Given the description of an element on the screen output the (x, y) to click on. 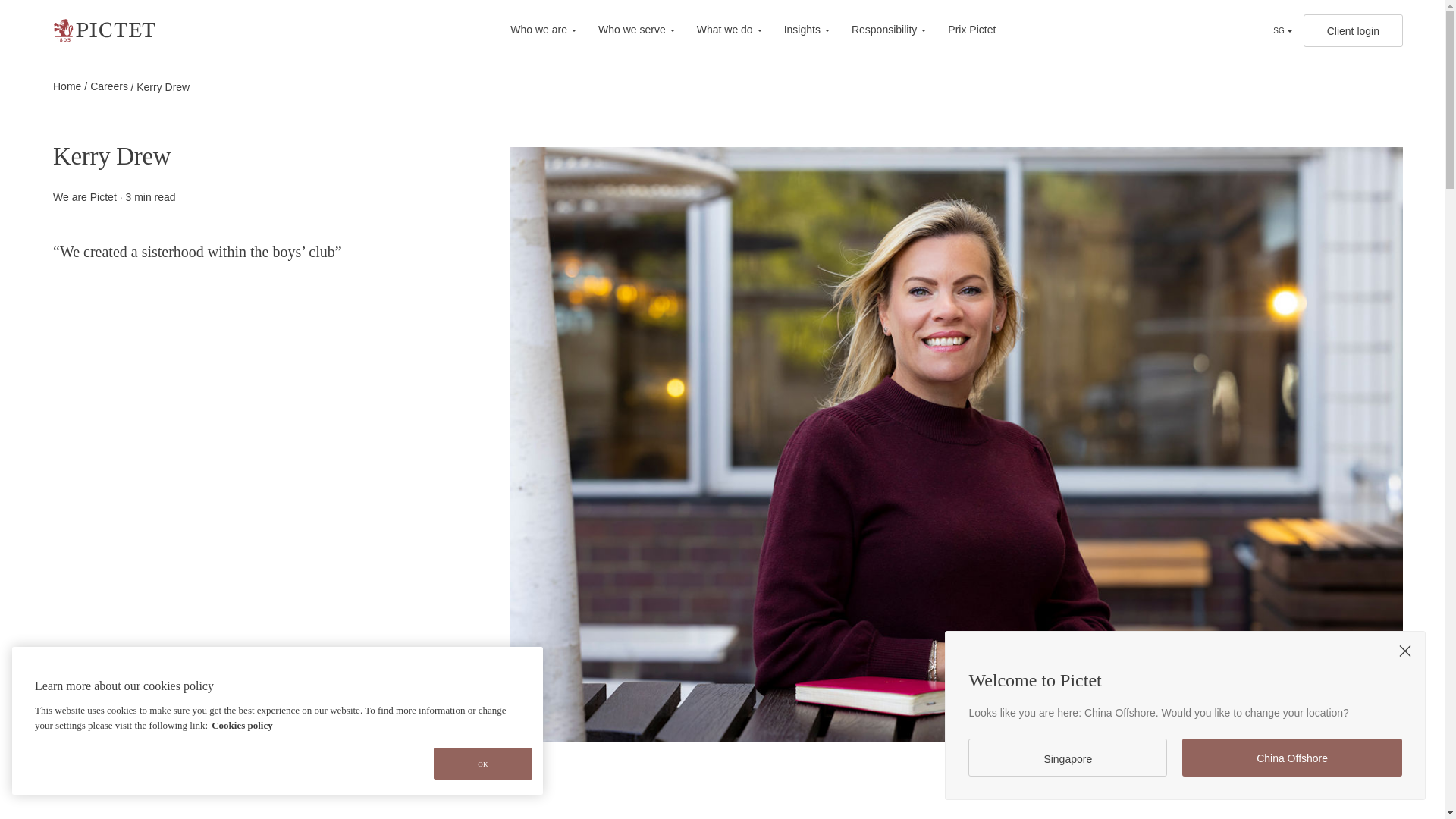
What we do (719, 29)
Responsibility (879, 29)
Who we serve (627, 29)
Prix Pictet (961, 29)
Client login (1353, 29)
Insights (797, 29)
Who we are (543, 29)
